Given the description of an element on the screen output the (x, y) to click on. 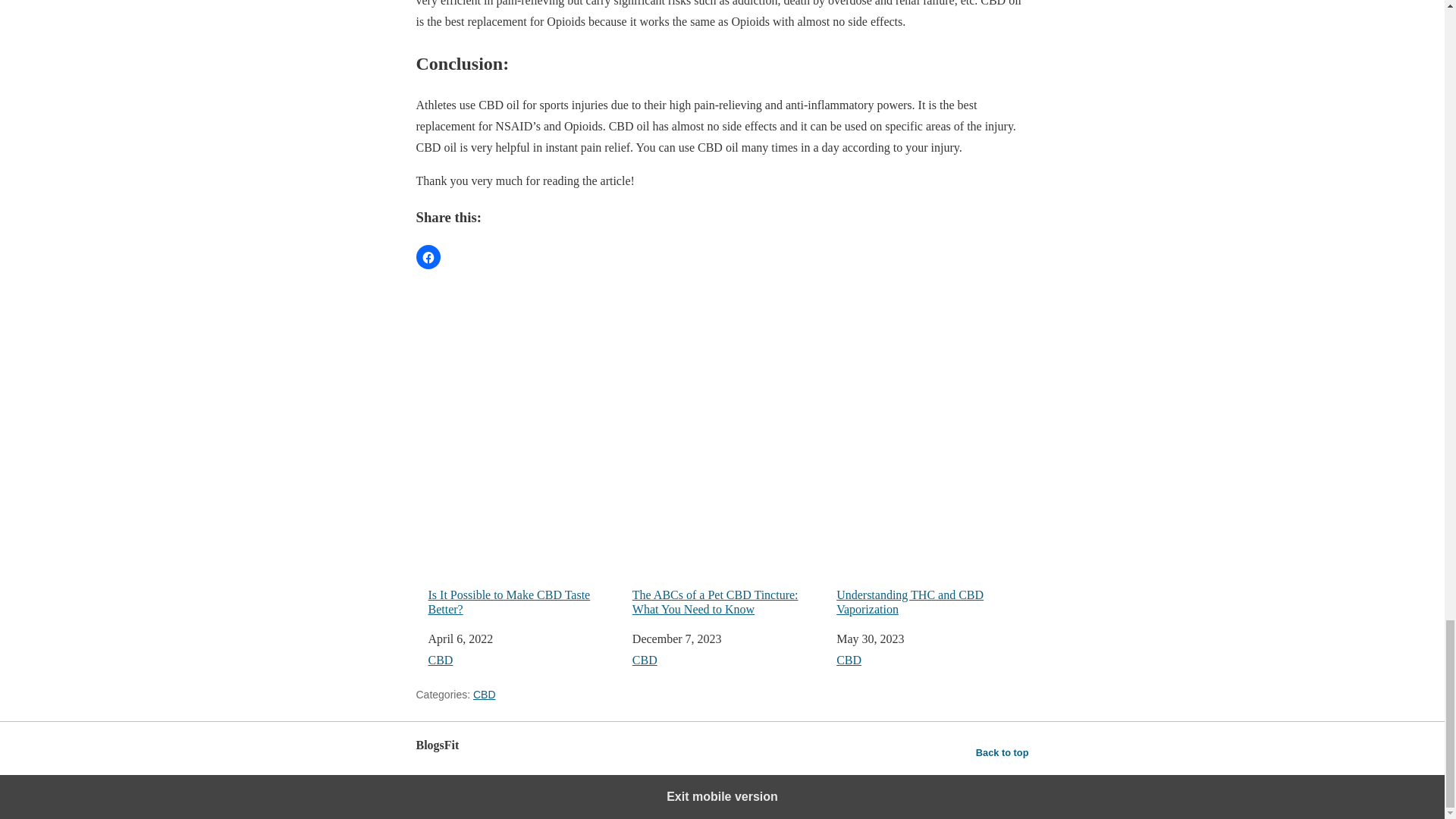
CBD (644, 659)
The ABCs of a Pet CBD Tincture: What You Need to Know (727, 543)
Is It Possible to Make CBD Taste Better? (524, 543)
CBD (848, 659)
CBD (440, 659)
Back to top (1002, 752)
Understanding THC and CBD Vaporization (931, 543)
Click to share on Facebook (426, 256)
CBD (484, 694)
Click to share on X (456, 256)
